Given the description of an element on the screen output the (x, y) to click on. 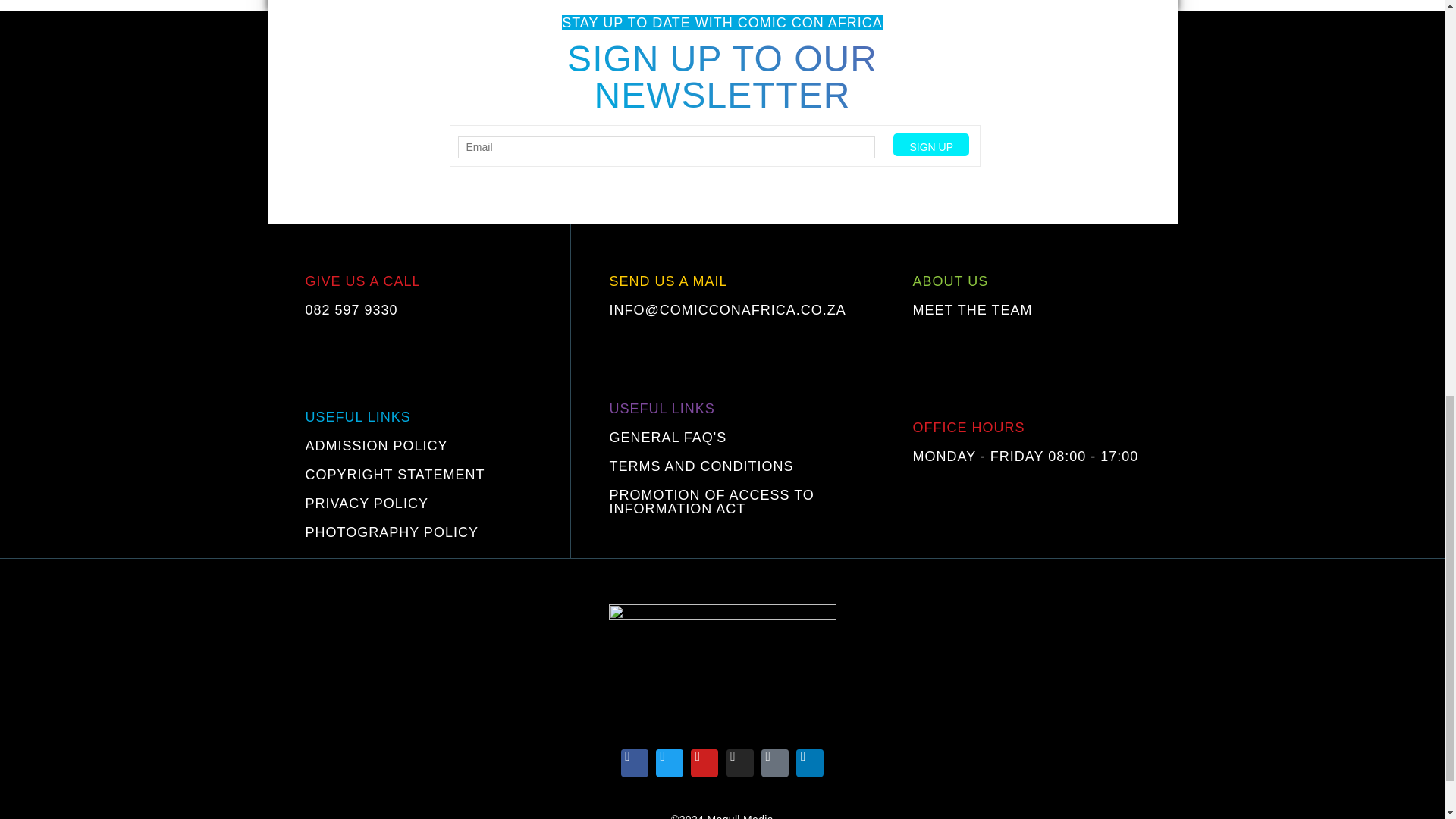
SIGN UP (931, 144)
